Given the description of an element on the screen output the (x, y) to click on. 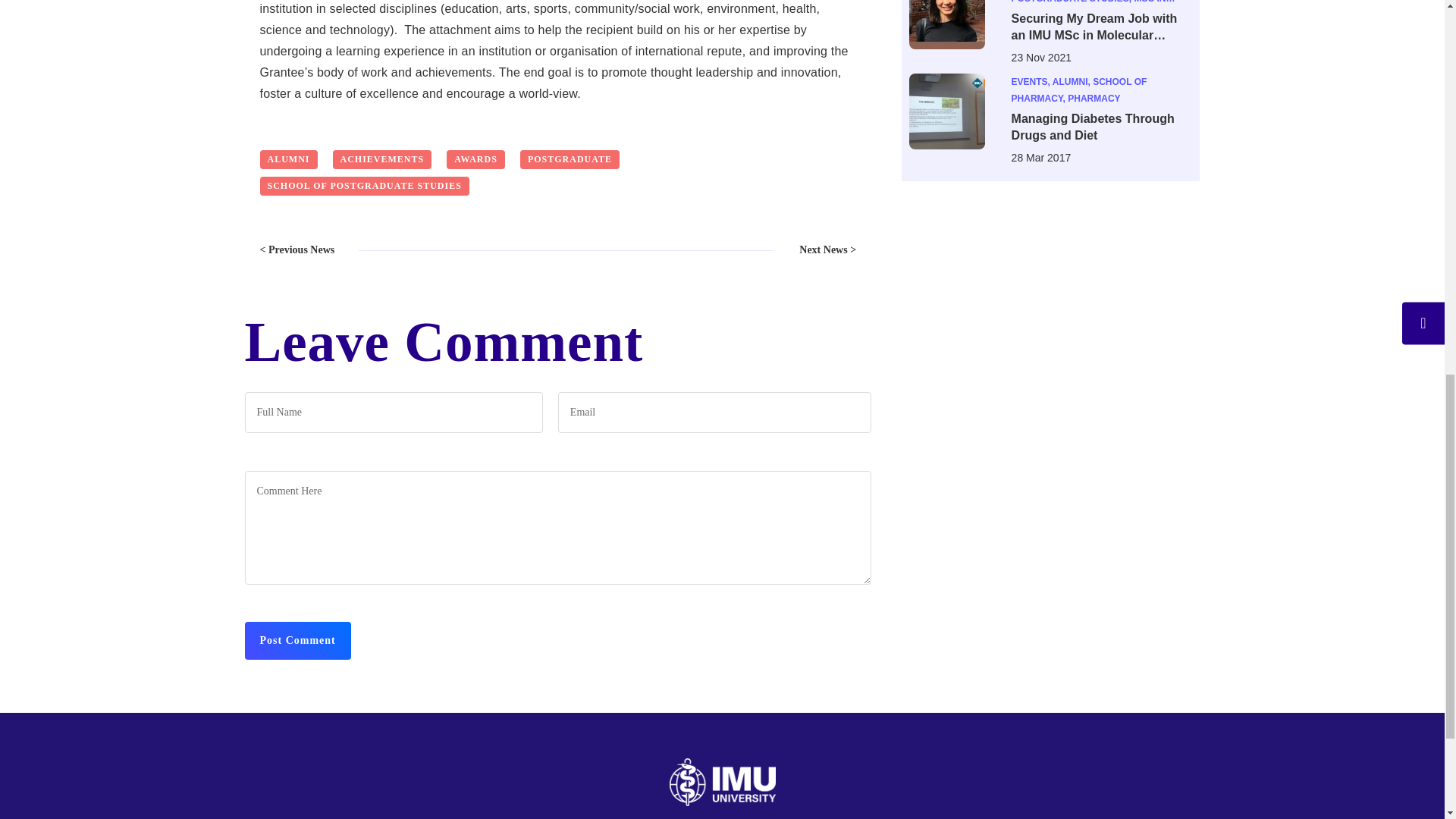
Permanent Link to Managing Diabetes Through Drugs and Diet (1101, 127)
